Given the description of an element on the screen output the (x, y) to click on. 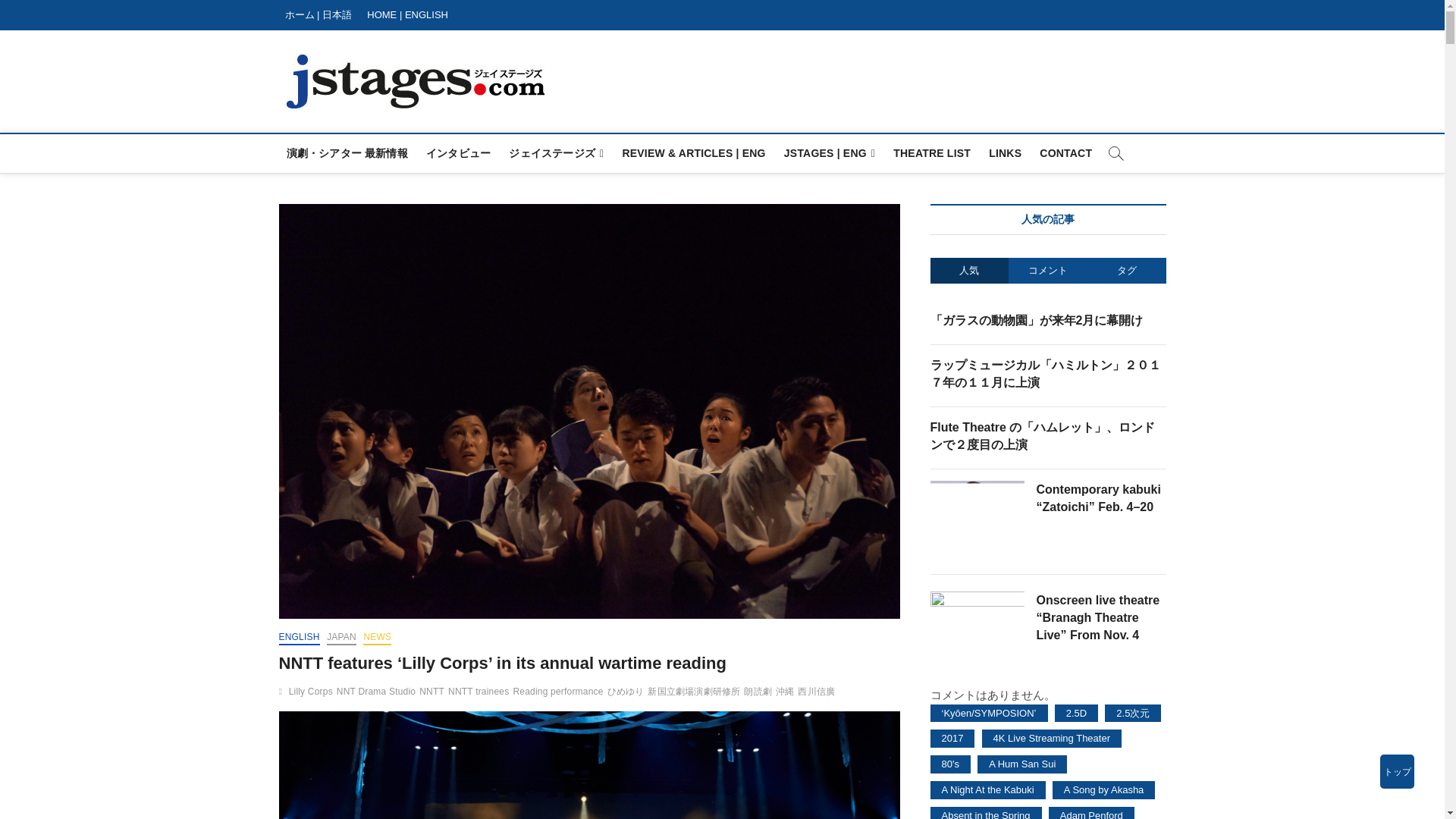
NNT Drama Studio (377, 693)
THEATRE LIST (931, 152)
NNTT (433, 693)
CONTACT (1065, 152)
Lilly Corps (312, 693)
ENGLISH (299, 638)
LINKS (1005, 152)
NEWS (376, 638)
NNTT trainees (480, 693)
Reading performance (559, 693)
